Given the description of an element on the screen output the (x, y) to click on. 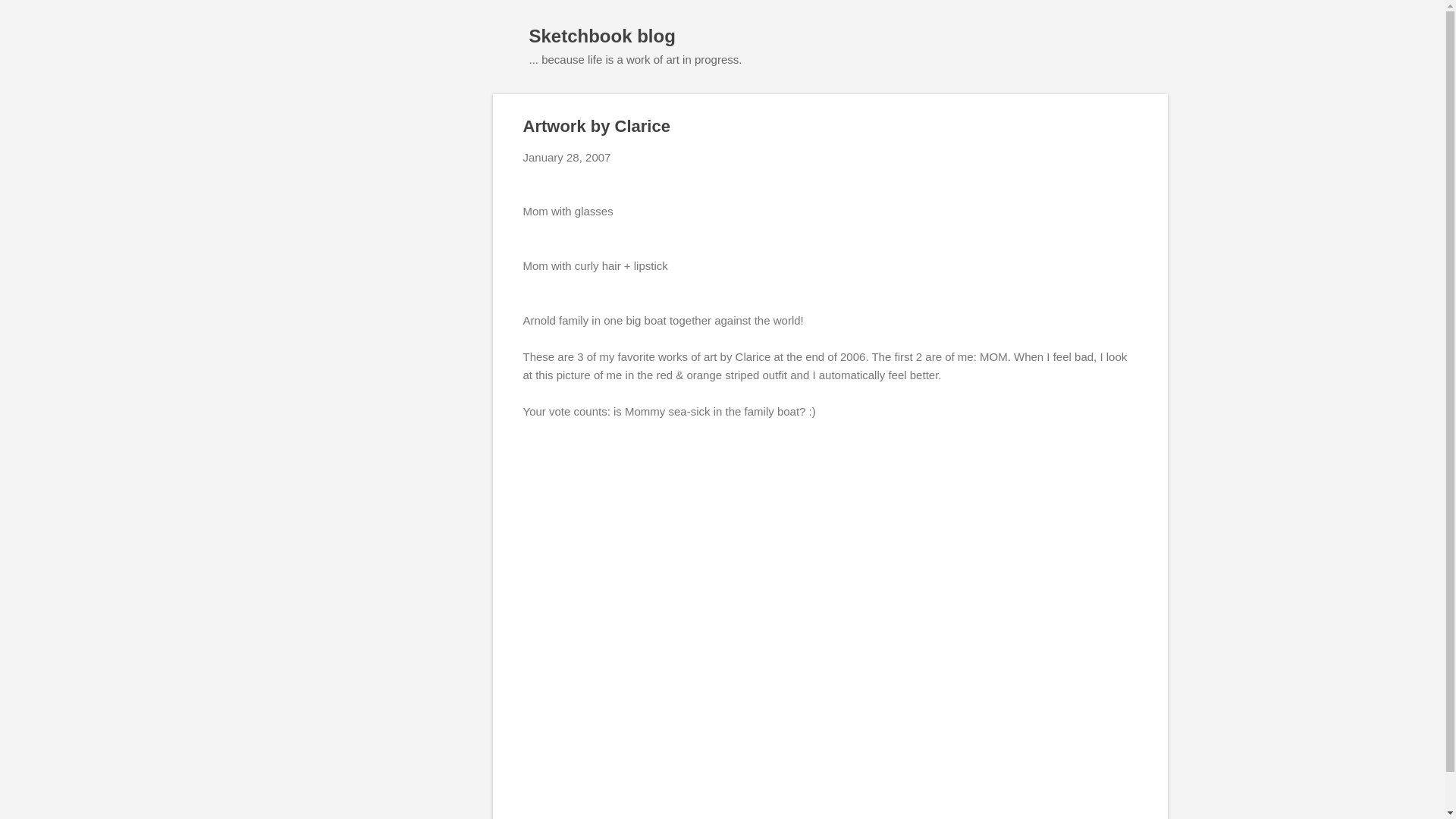
permanent link (566, 156)
January 28, 2007 (566, 156)
Sketchbook blog (602, 35)
